Given the description of an element on the screen output the (x, y) to click on. 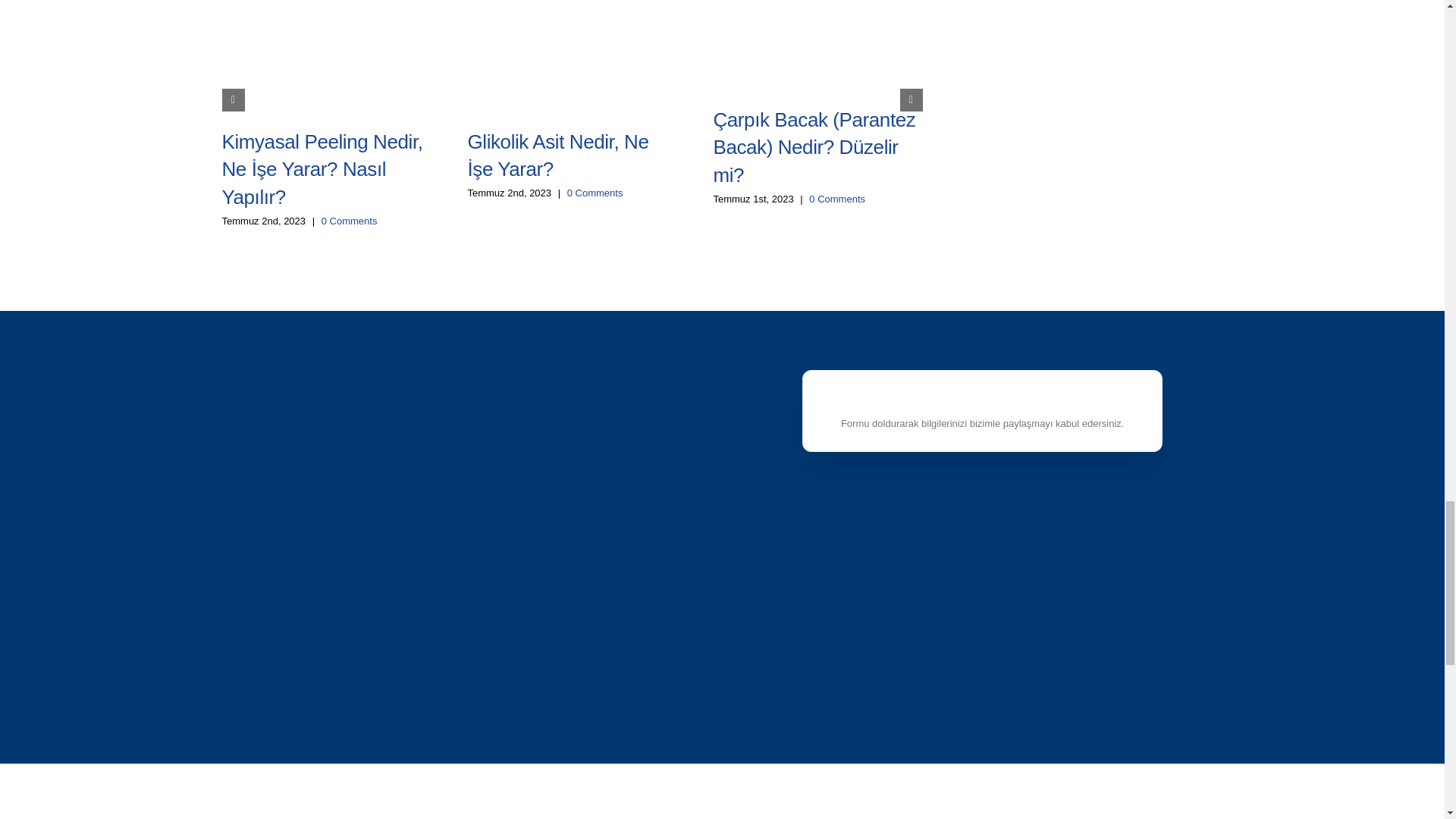
0 Comments (595, 193)
0 Comments (836, 198)
0 Comments (349, 220)
